Given the description of an element on the screen output the (x, y) to click on. 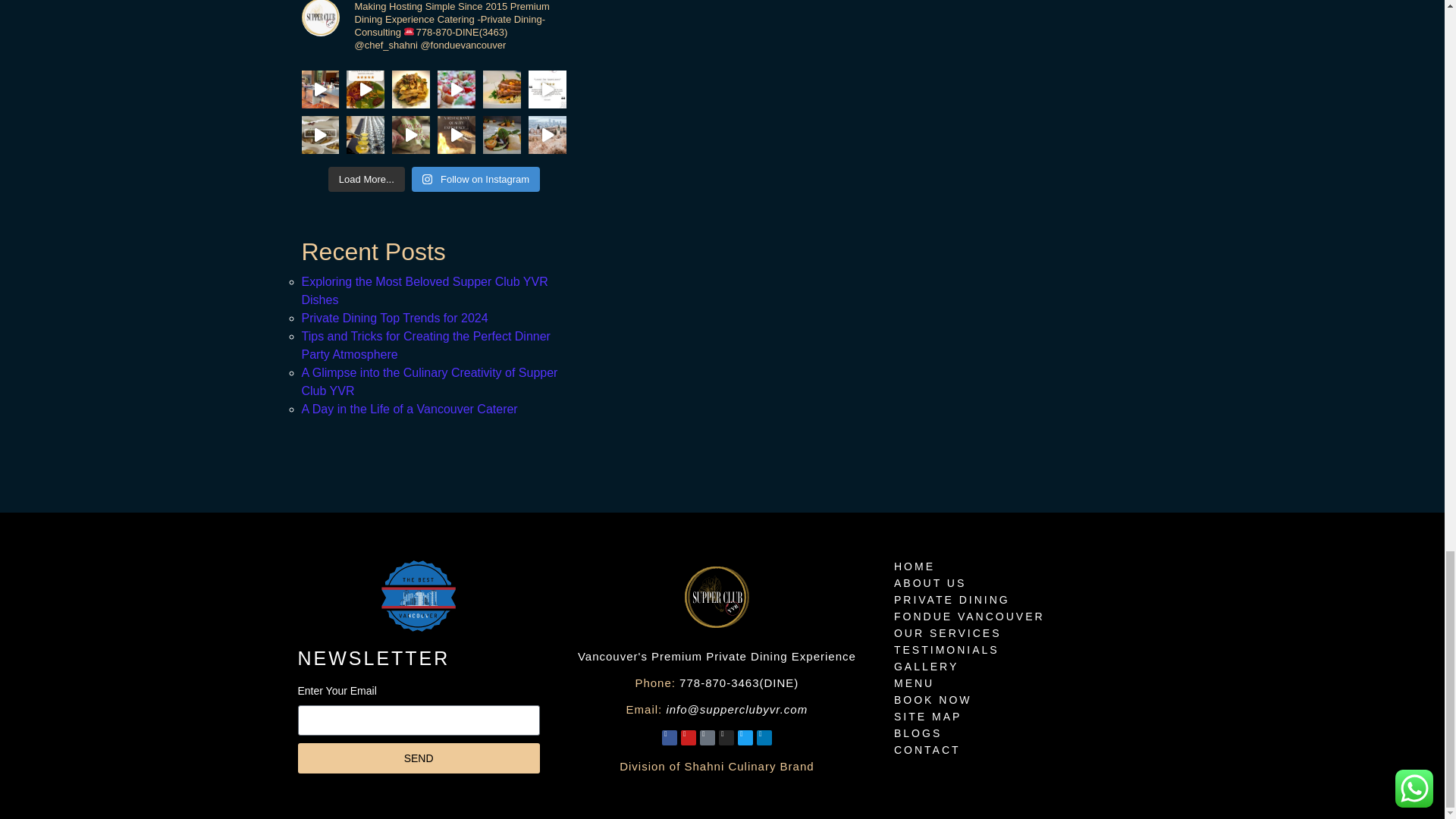
Load More... (366, 179)
A Glimpse into the Culinary Creativity of Supper Club YVR (429, 381)
Vancouver (418, 595)
Follow on Instagram (476, 179)
Exploring the Most Beloved Supper Club YVR Dishes (424, 290)
Private Dining Top Trends for 2024 (394, 318)
